Given the description of an element on the screen output the (x, y) to click on. 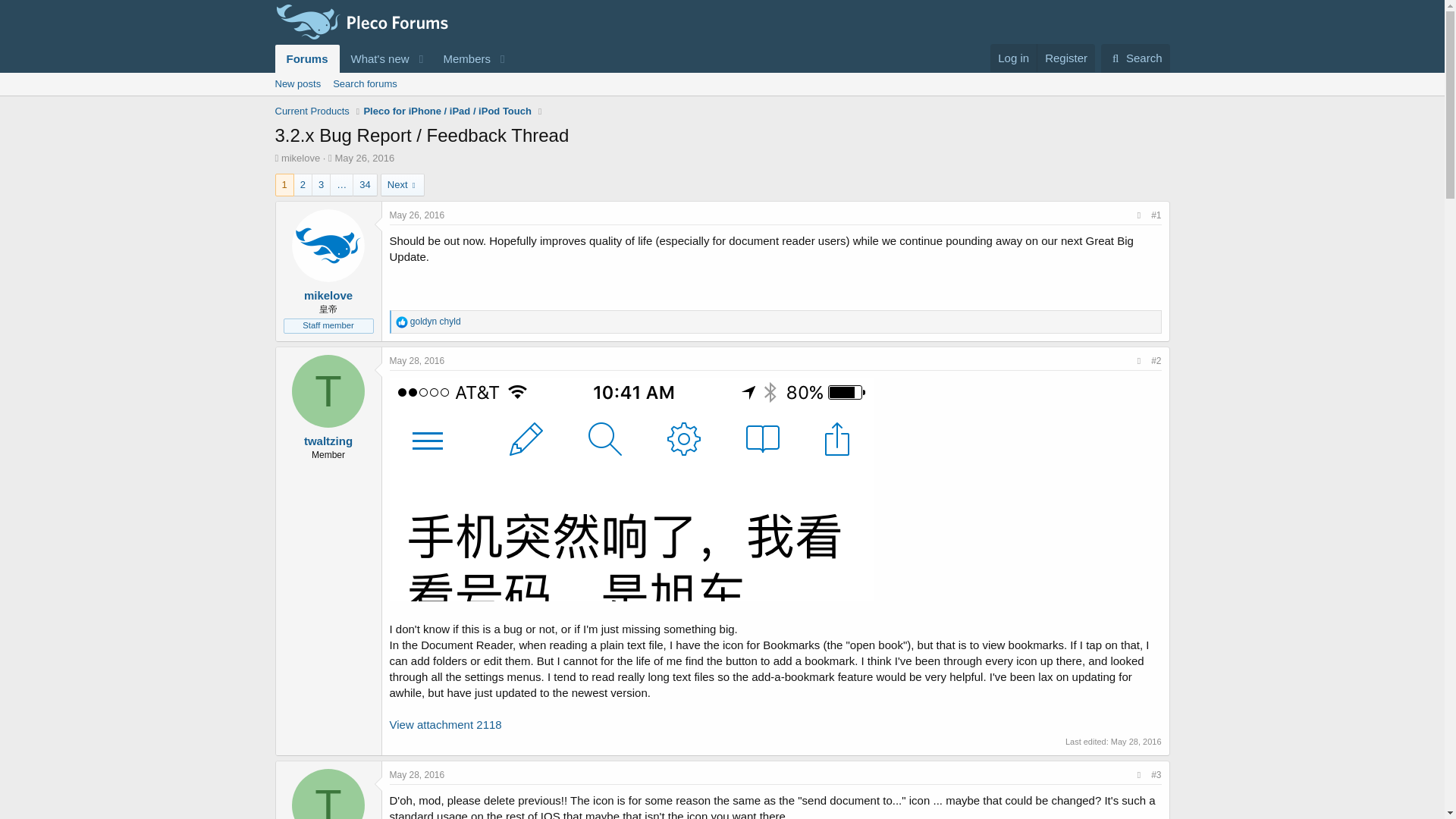
Register (392, 58)
Go to page (1065, 58)
May 26, 2016 at 3:37 PM (341, 184)
Like (364, 157)
Search forums (401, 322)
May 28, 2016 at 10:57 AM (364, 83)
Search (1135, 741)
New posts (1135, 58)
Search (296, 83)
